Given the description of an element on the screen output the (x, y) to click on. 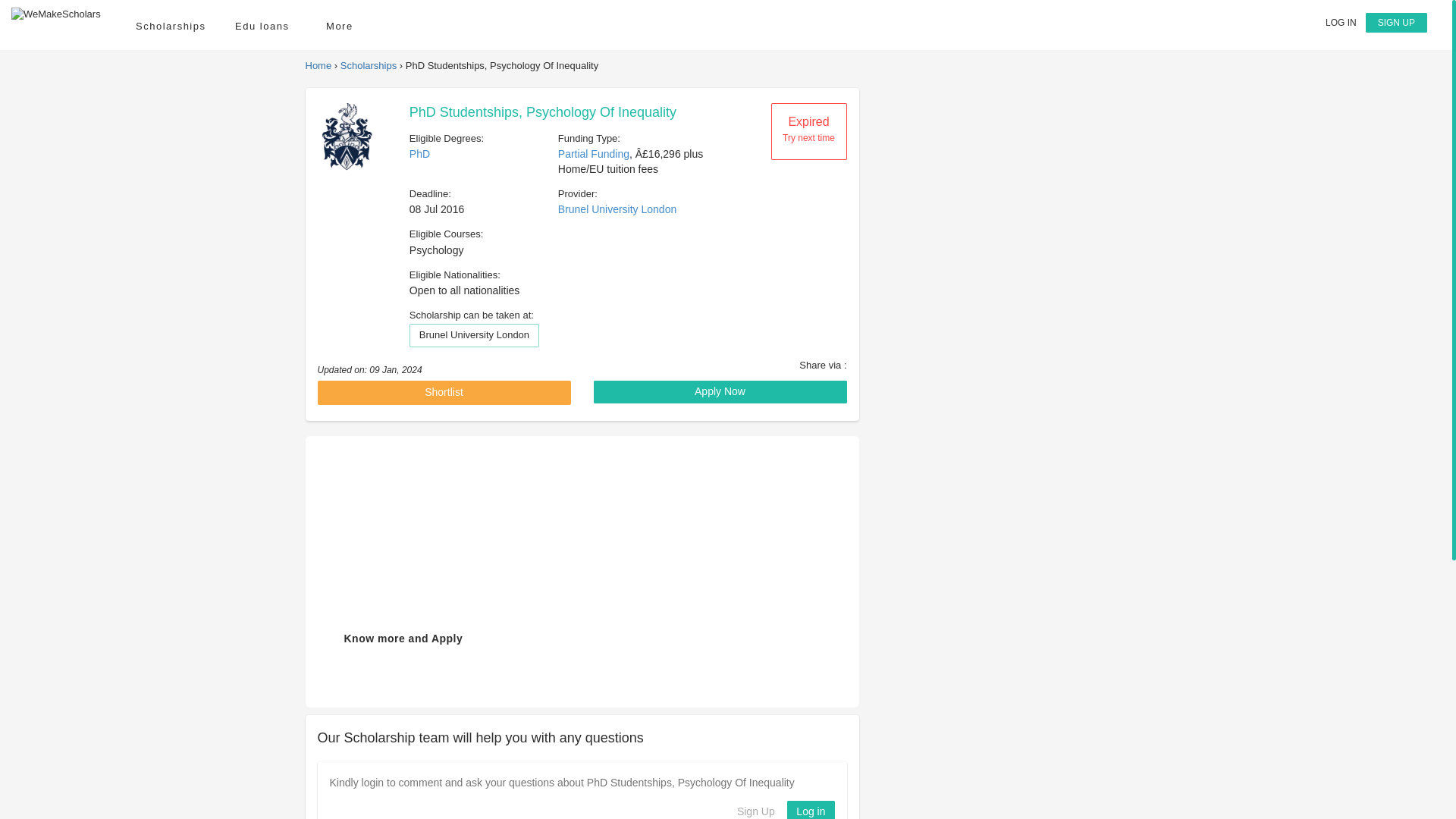
LOG IN (1340, 22)
Home (318, 65)
Login to view Universities, Scholarship, internship abroad (1340, 22)
PhD Scholarships (419, 153)
Scholarships (170, 25)
Login to view Universities, Scholarship, internship abroad (810, 809)
PhD (419, 153)
Shortlist (443, 392)
